Given the description of an element on the screen output the (x, y) to click on. 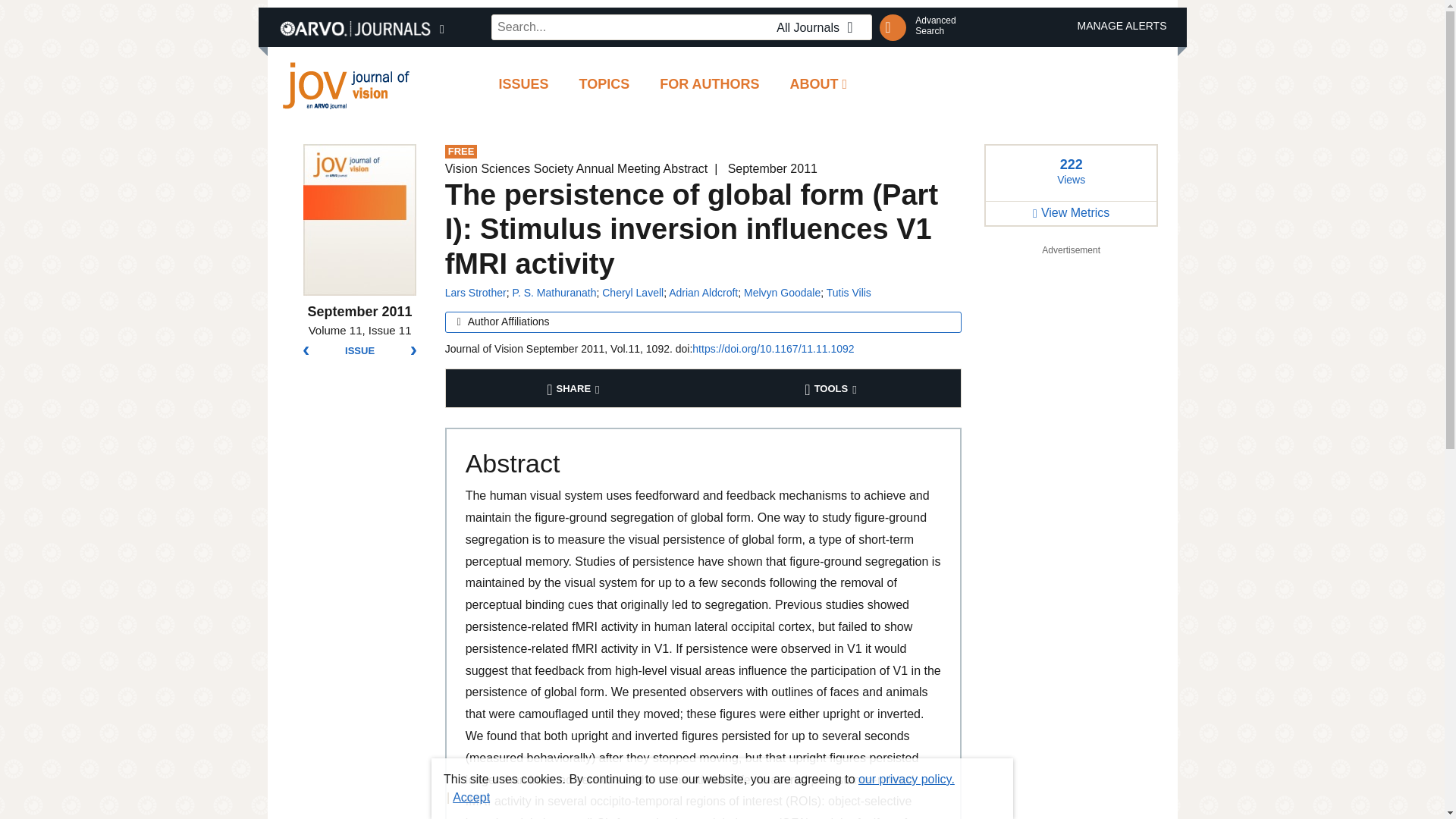
ABOUT (818, 84)
P. S. Mathuranath (553, 292)
ISSUES (523, 84)
Cheryl Lavell (632, 292)
Adrian Aldcroft (703, 292)
ISSUE (359, 350)
Tutis Vilis (848, 292)
TOPICS (935, 25)
All Journals (604, 84)
FOR AUTHORS (819, 27)
SIGN IN (709, 84)
Lars Strother (782, 292)
